Given the description of an element on the screen output the (x, y) to click on. 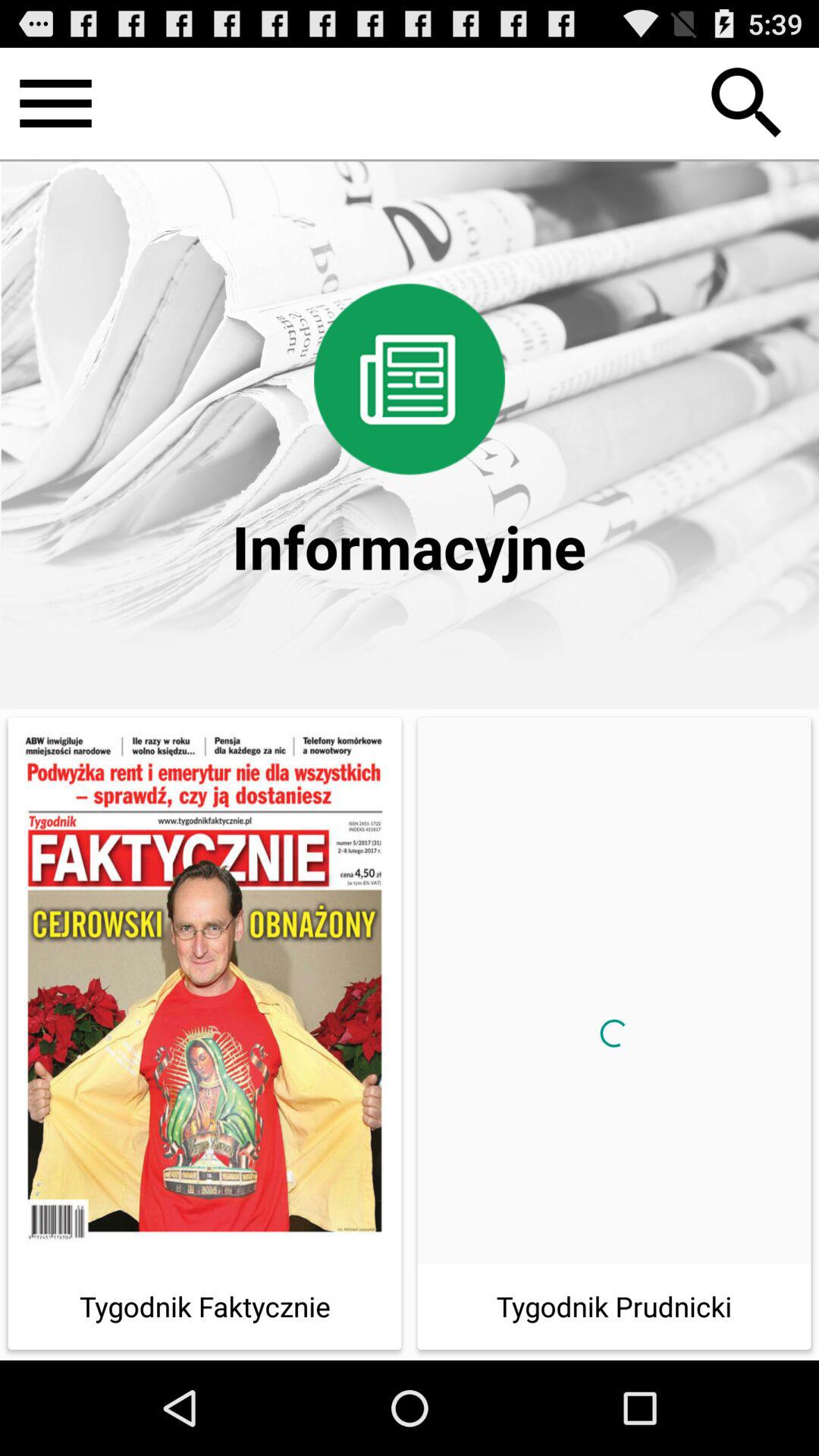
view menu (55, 103)
